Given the description of an element on the screen output the (x, y) to click on. 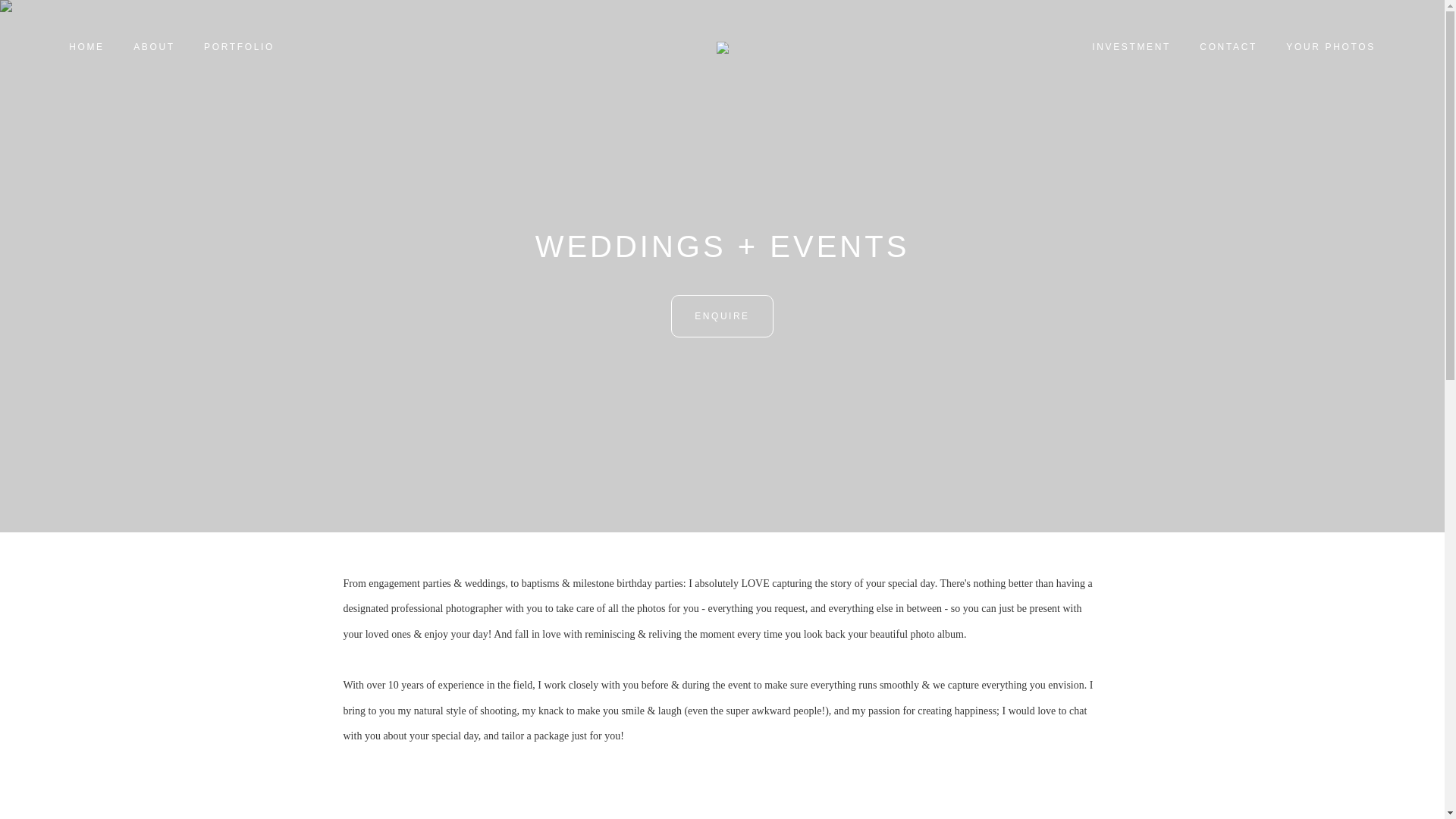
INVESTMENT (1131, 47)
ENQUIRE (722, 315)
YOUR PHOTOS (1330, 47)
ABOUT (154, 47)
HOME (87, 47)
PORTFOLIO (238, 47)
CONTACT (1228, 47)
